Given the description of an element on the screen output the (x, y) to click on. 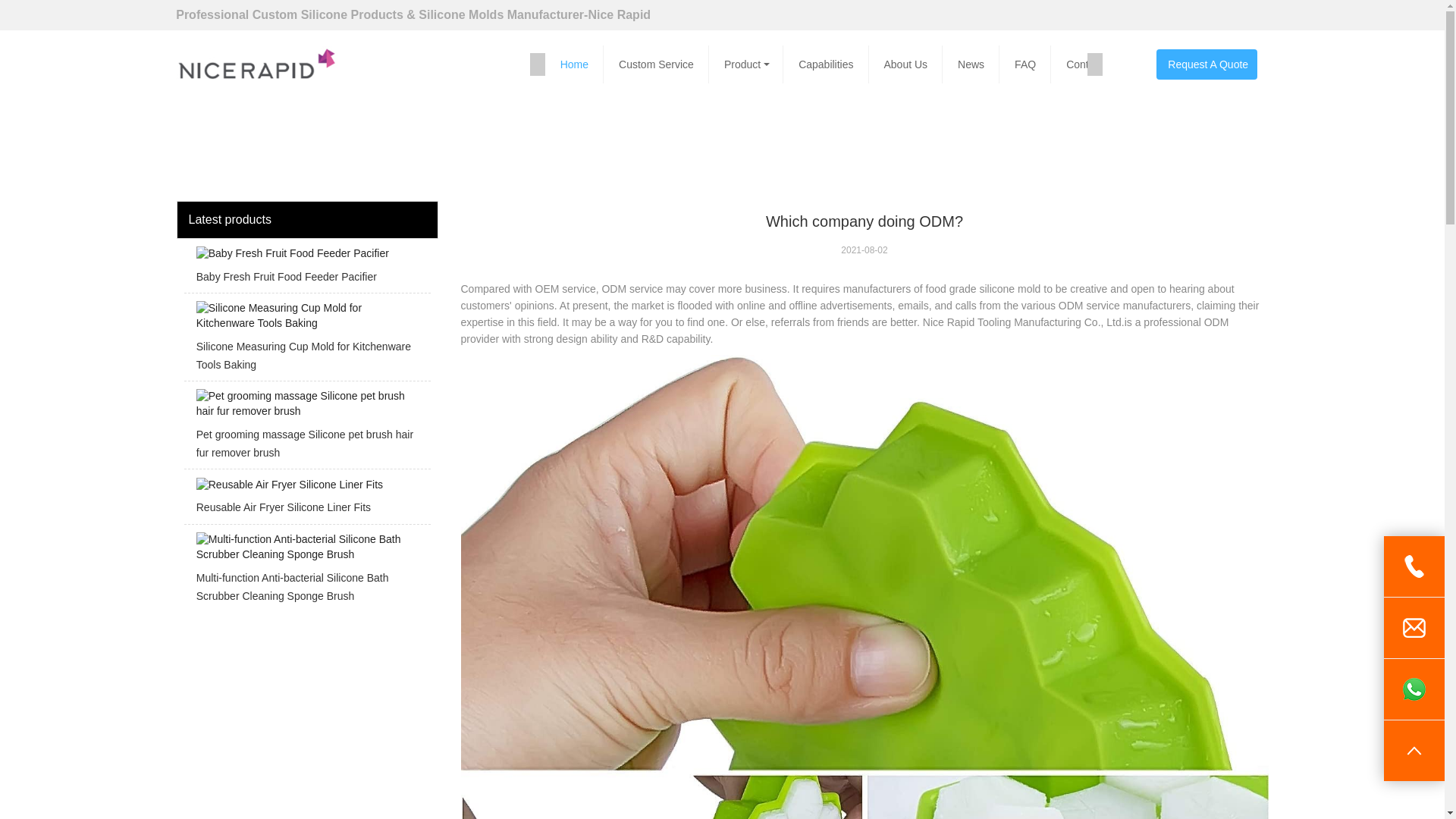
Silicone Measuring Cup Mold for Kitchenware Tools Baking (306, 340)
Baby Fresh Fruit Food Feeder Pacifier (306, 269)
Capabilities (828, 64)
Contact Us (1093, 64)
Custom Service (658, 64)
Reusable Air Fryer Silicone Liner Fits (306, 500)
About Us (907, 64)
Product (748, 64)
